Given the description of an element on the screen output the (x, y) to click on. 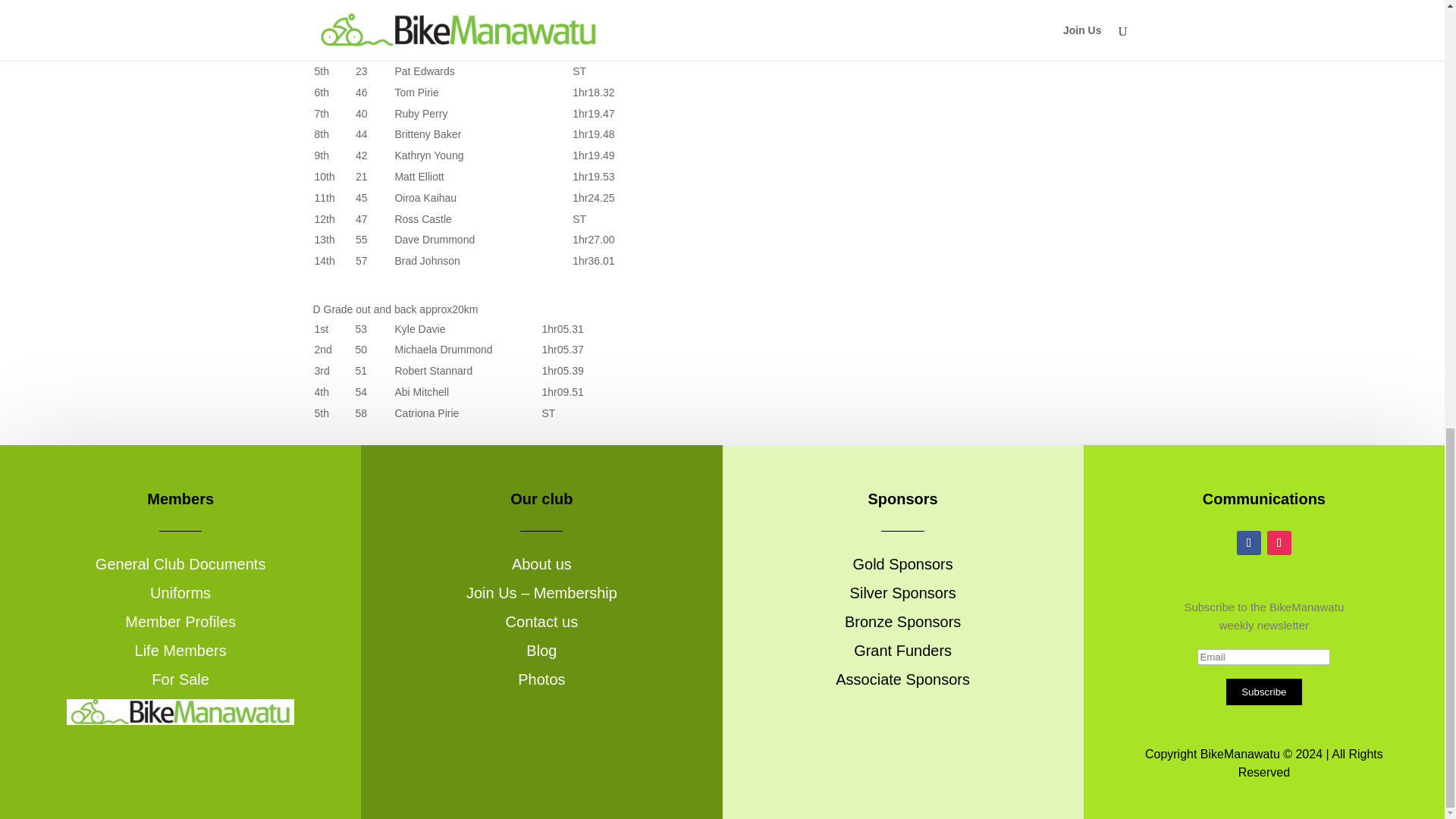
Subscribe (1263, 691)
Follow on Facebook (1248, 542)
BikeManawatuHorizontal2 (180, 711)
Follow on Instagram (1278, 542)
